Given the description of an element on the screen output the (x, y) to click on. 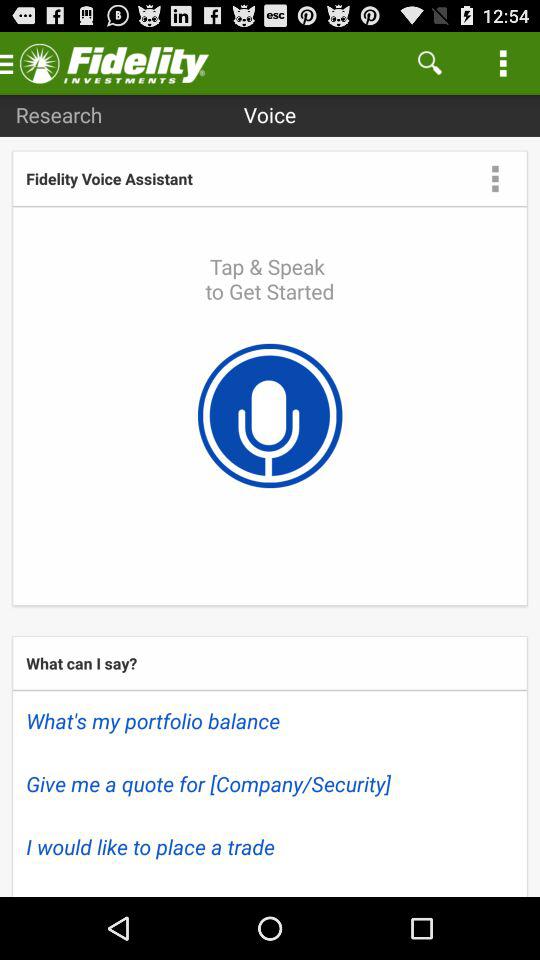
click the app to the right of fidelity voice assistant app (495, 178)
